Given the description of an element on the screen output the (x, y) to click on. 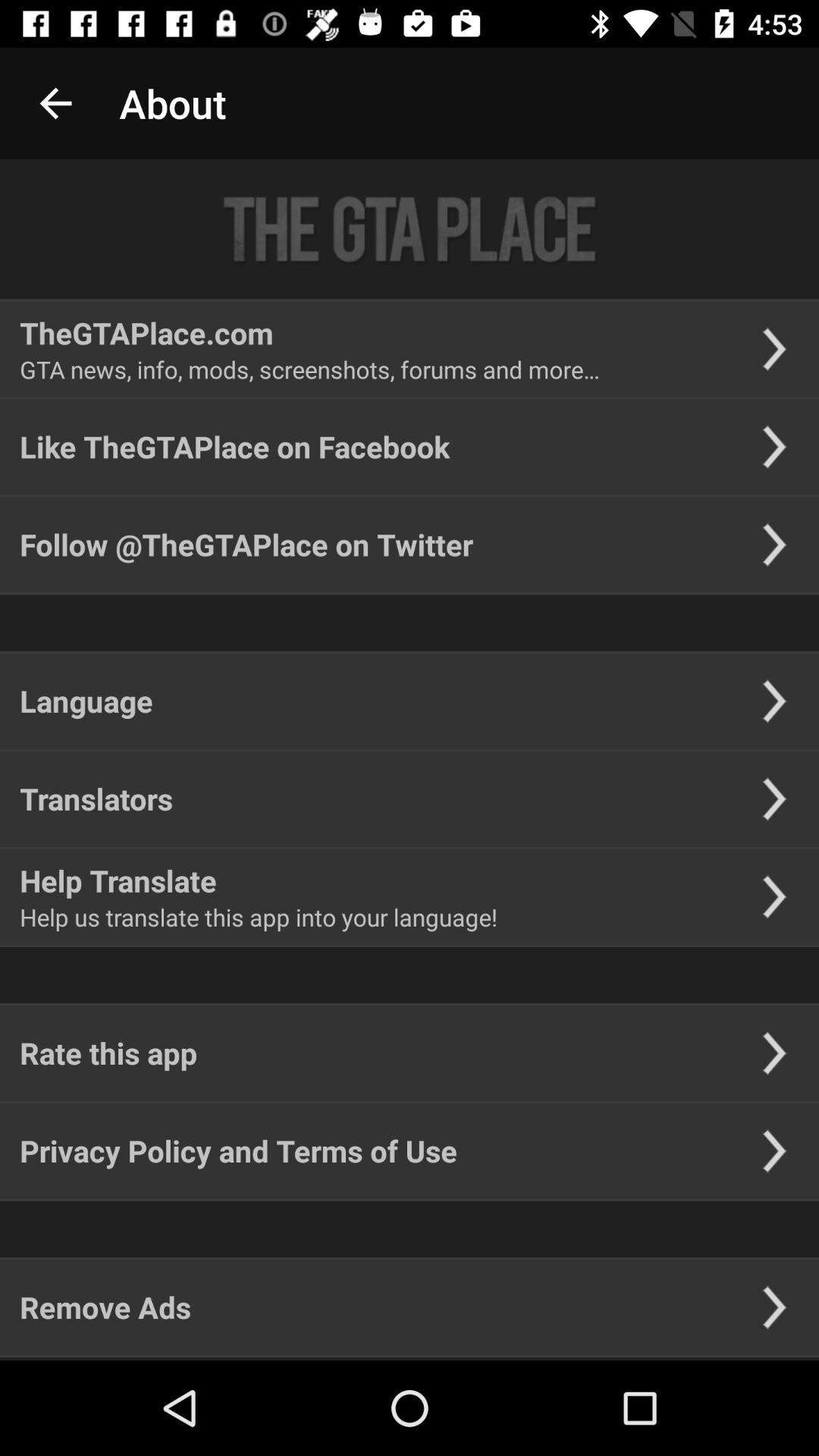
choose app to the left of about (55, 103)
